Given the description of an element on the screen output the (x, y) to click on. 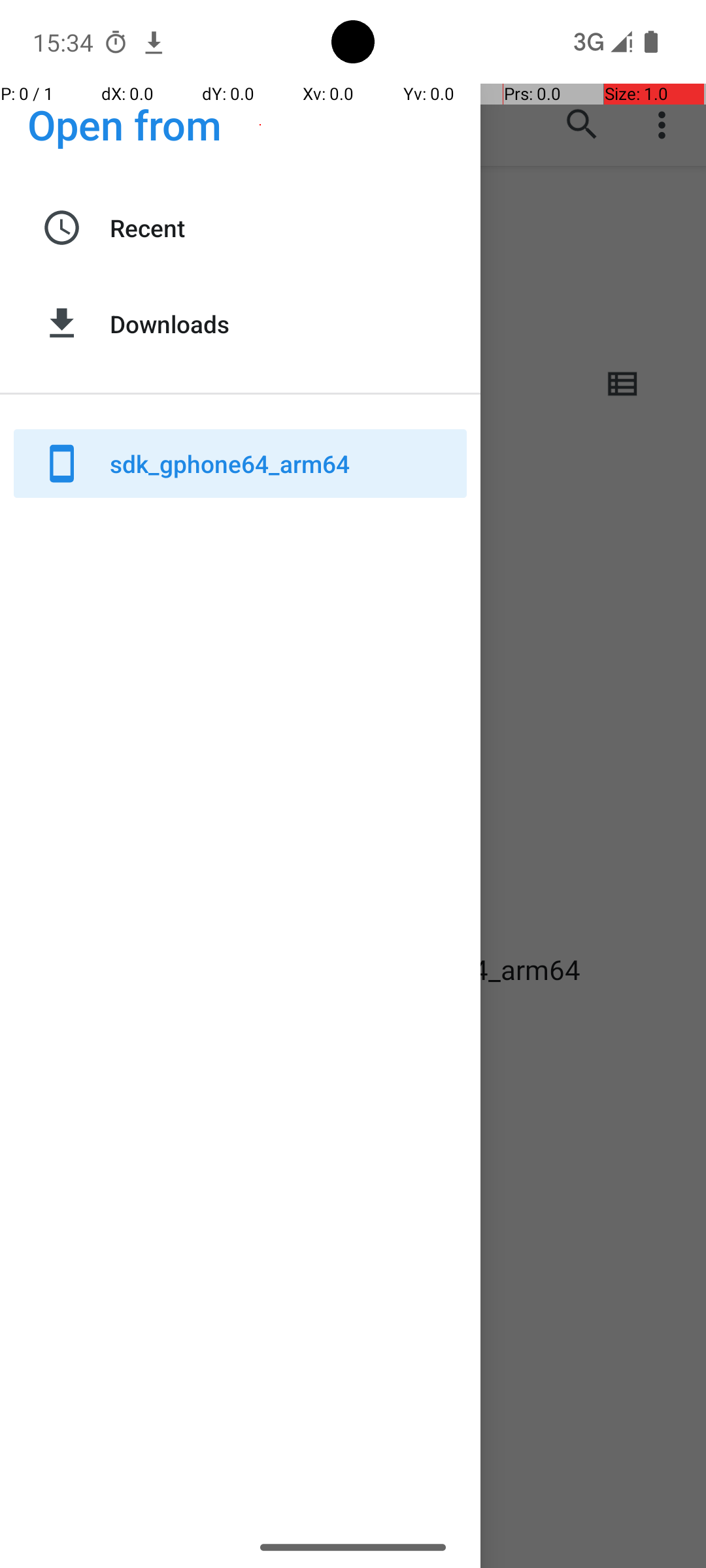
Open from Element type: android.widget.TextView (124, 124)
Chrome notification: www.espn.com Element type: android.widget.ImageView (153, 41)
